Given the description of an element on the screen output the (x, y) to click on. 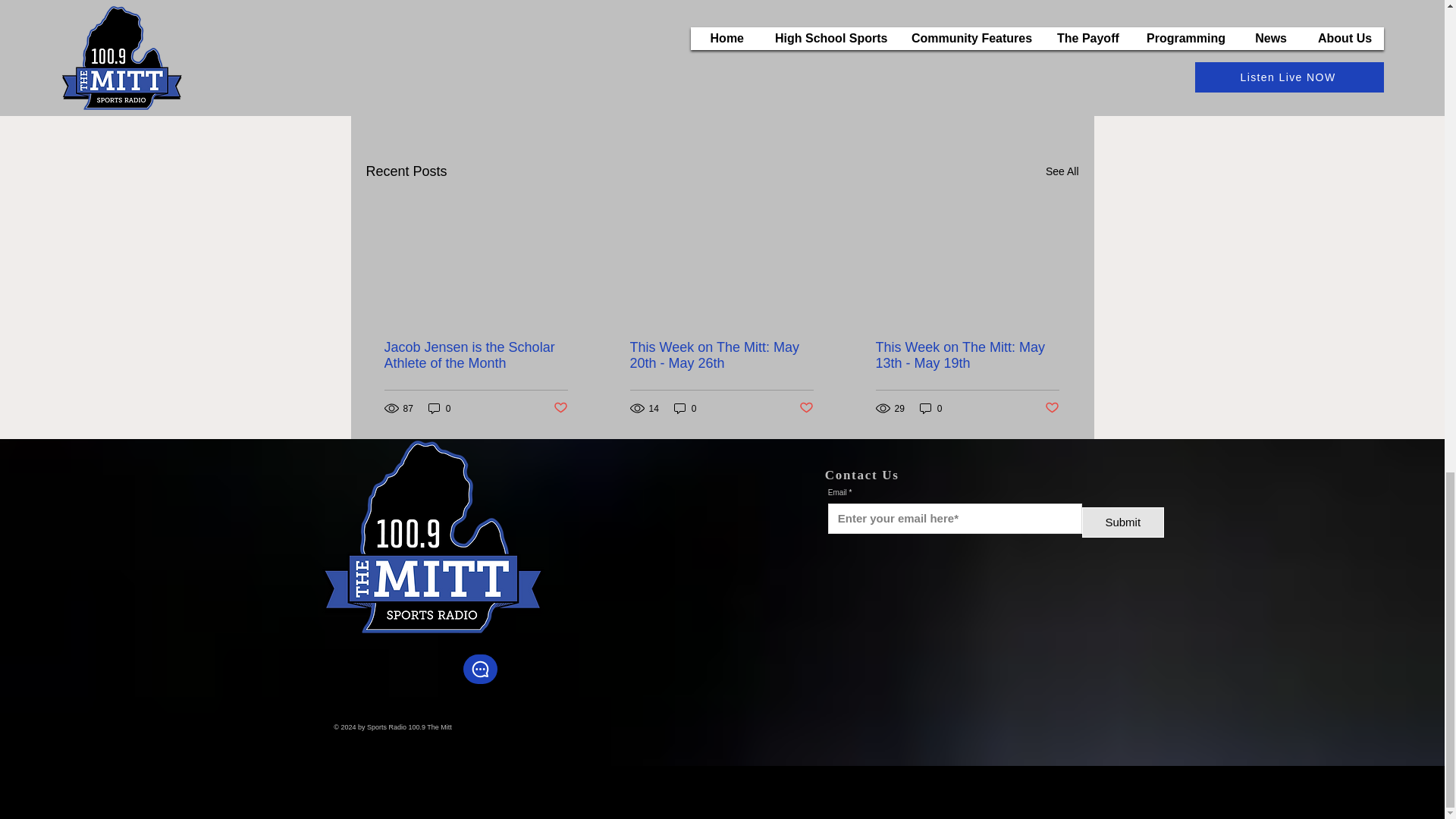
Jacob Jensen is the Scholar Athlete of the Month (475, 355)
See All (1061, 171)
Google Maps (996, 633)
Post not marked as liked (990, 89)
Sports Radio 100.9 The Mitt (560, 408)
0 (936, 43)
